Given the description of an element on the screen output the (x, y) to click on. 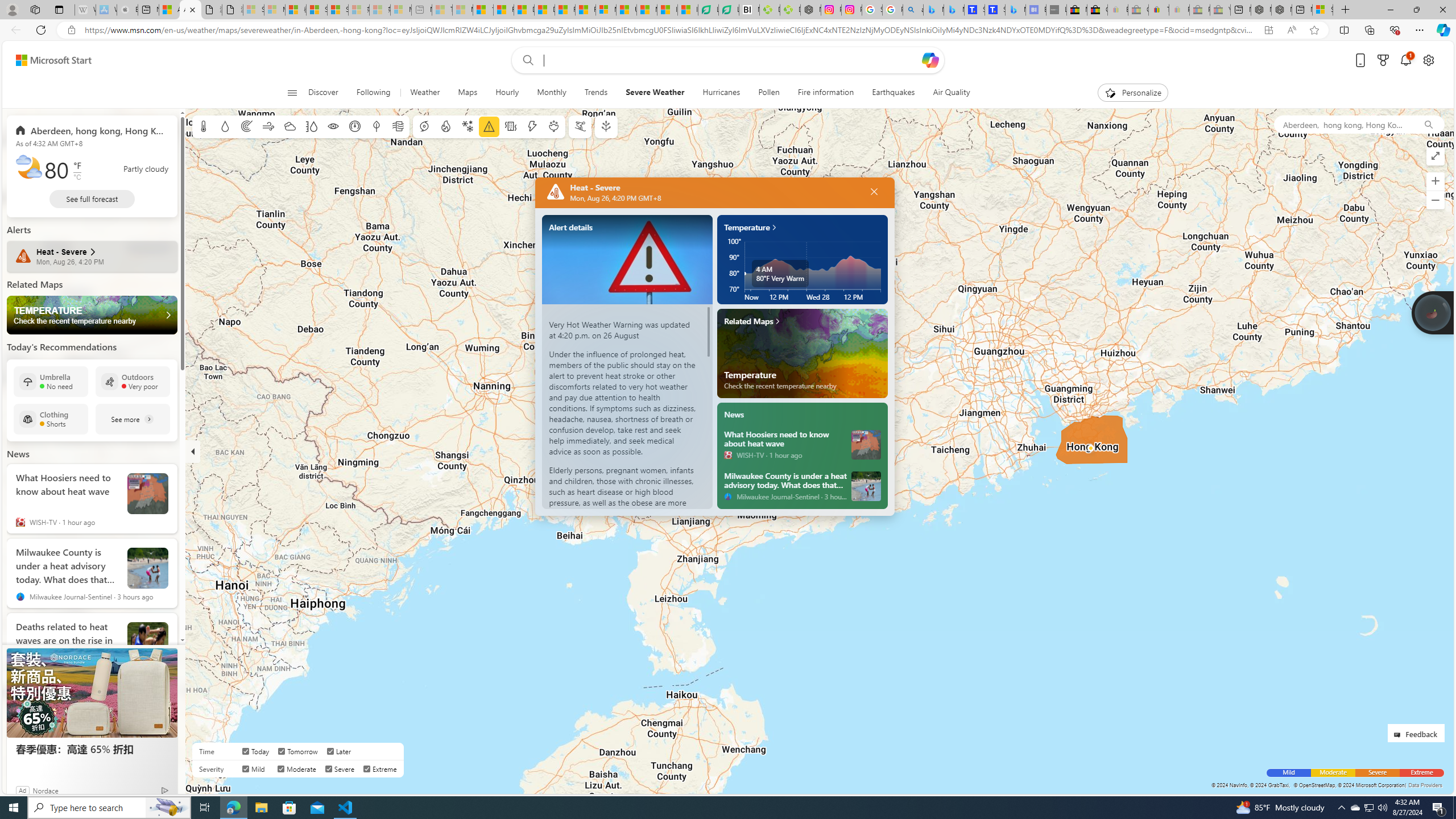
Hurricanes (721, 92)
Trends (595, 92)
Wind (267, 126)
What Hoosiers need to know about heat wave (865, 444)
Air quality (397, 126)
Pollen (768, 92)
